Given the description of an element on the screen output the (x, y) to click on. 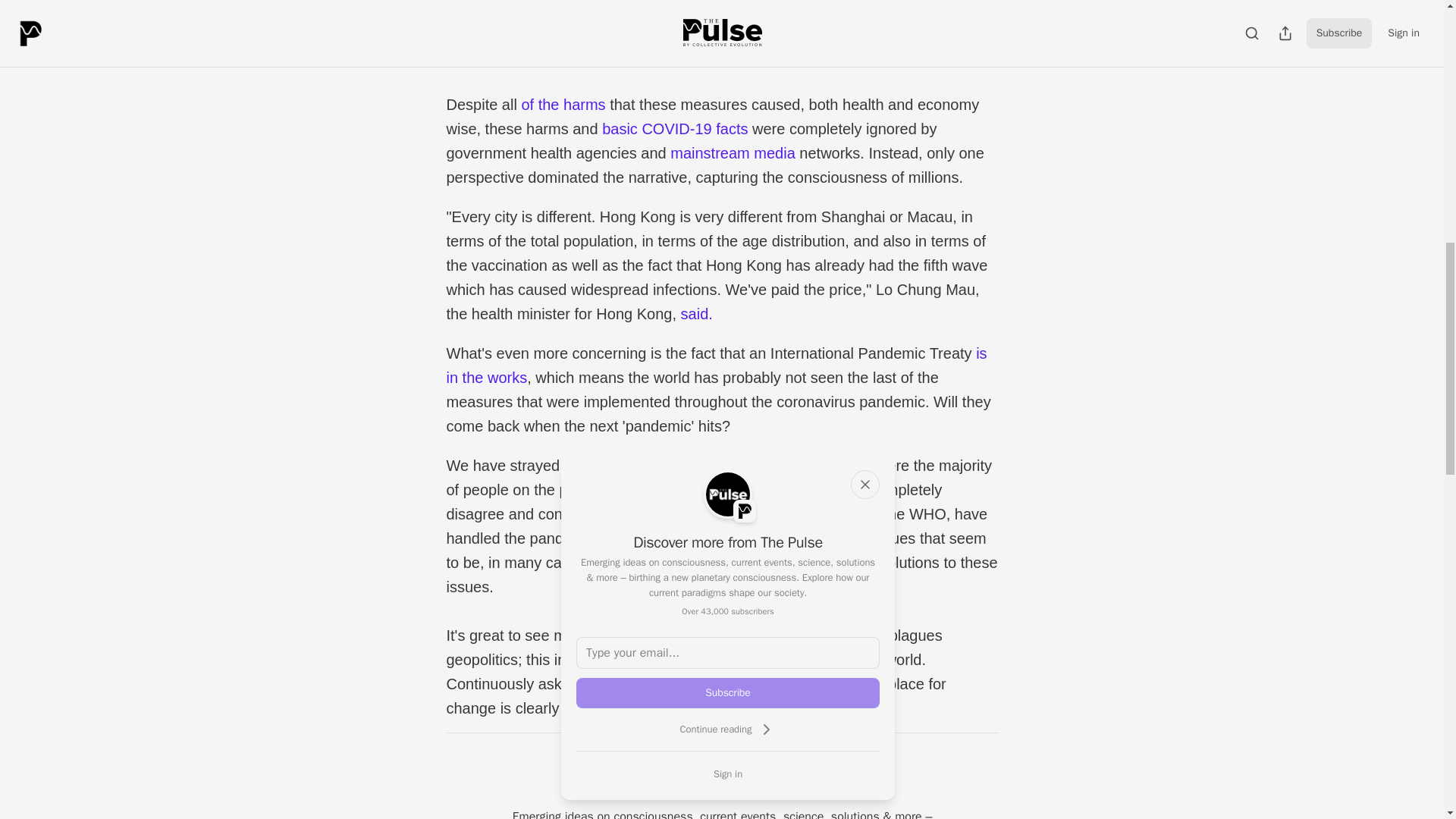
is in the works (716, 364)
basic COVID-19 facts (675, 128)
Subscribe (727, 693)
vaccine (809, 31)
said. (697, 313)
of the harms (563, 104)
mainstream media (731, 152)
Sign in (727, 773)
